Given the description of an element on the screen output the (x, y) to click on. 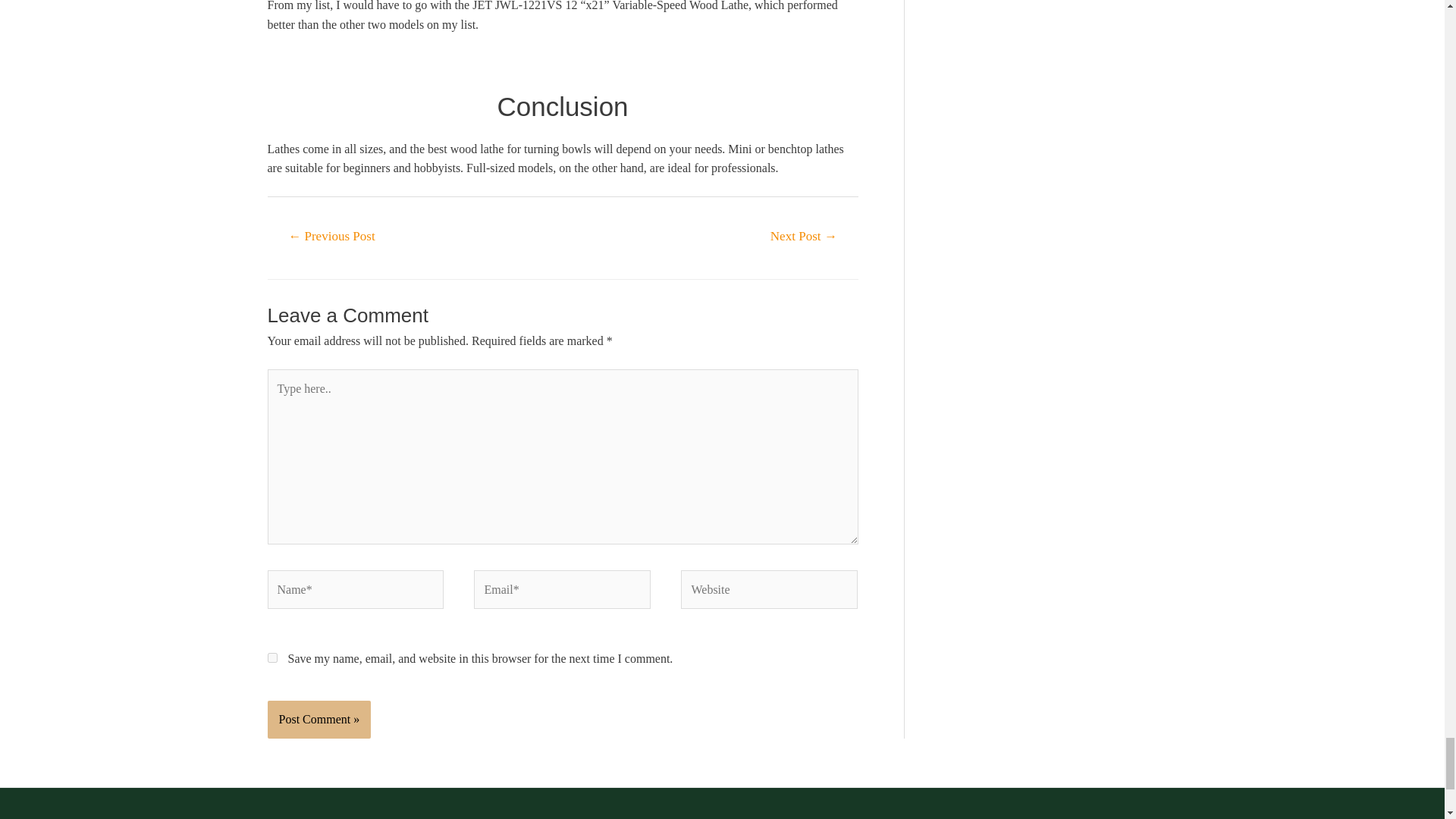
yes (271, 657)
